Given the description of an element on the screen output the (x, y) to click on. 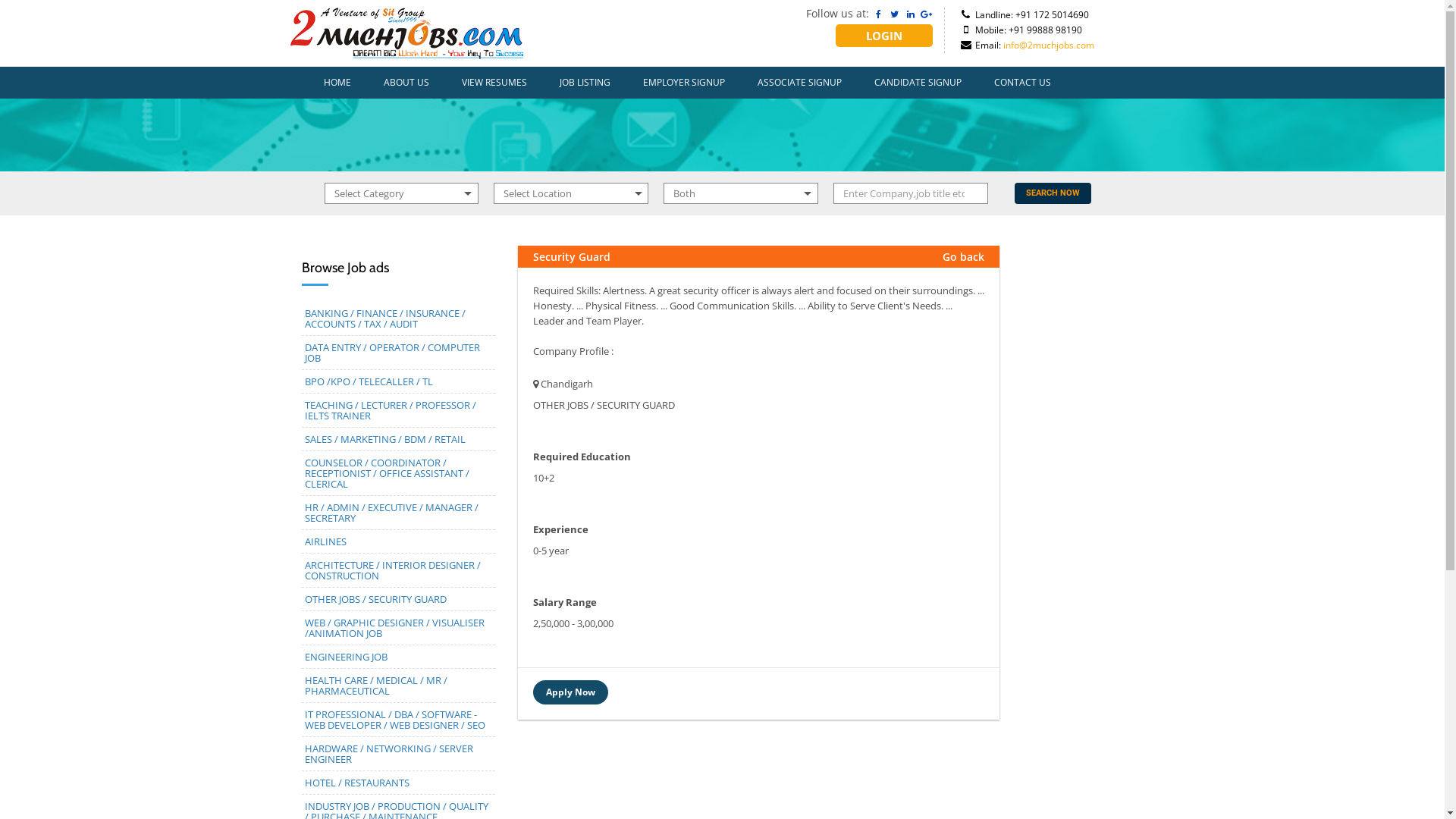
ABOUT US Element type: text (406, 82)
ASSOCIATE SIGNUP Element type: text (798, 82)
HR / ADMIN / EXECUTIVE / MANAGER / SECRETARY Element type: text (391, 512)
info@2muchjobs.com Element type: text (1048, 44)
HARDWARE / NETWORKING / SERVER ENGINEER Element type: text (388, 753)
HOME Element type: text (336, 82)
BANKING / FINANCE / INSURANCE / ACCOUNTS / TAX / AUDIT Element type: text (384, 318)
TEACHING / LECTURER / PROFESSOR / IELTS TRAINER Element type: text (390, 410)
Apply Now Element type: text (569, 691)
AIRLINES Element type: text (325, 541)
LOGIN Element type: text (883, 35)
CONTACT US Element type: text (1021, 82)
ENGINEERING JOB Element type: text (345, 656)
BPO /KPO / TELECALLER / TL Element type: text (368, 381)
SEARCH NOW Element type: text (1052, 192)
VIEW RESUMES Element type: text (493, 82)
SALES / MARKETING / BDM / RETAIL Element type: text (384, 438)
EMPLOYER SIGNUP Element type: text (683, 82)
Go back Element type: text (962, 256)
WEB / GRAPHIC DESIGNER / VISUALISER /ANIMATION JOB Element type: text (394, 627)
ARCHITECTURE / INTERIOR DESIGNER / CONSTRUCTION Element type: text (392, 570)
JOB LISTING Element type: text (585, 82)
DATA ENTRY / OPERATOR / COMPUTER JOB Element type: text (392, 352)
HOTEL / RESTAURANTS Element type: text (356, 782)
HEALTH CARE / MEDICAL / MR / PHARMACEUTICAL Element type: text (375, 685)
CANDIDATE SIGNUP Element type: text (916, 82)
OTHER JOBS / SECURITY GUARD Element type: text (375, 598)
